Given the description of an element on the screen output the (x, y) to click on. 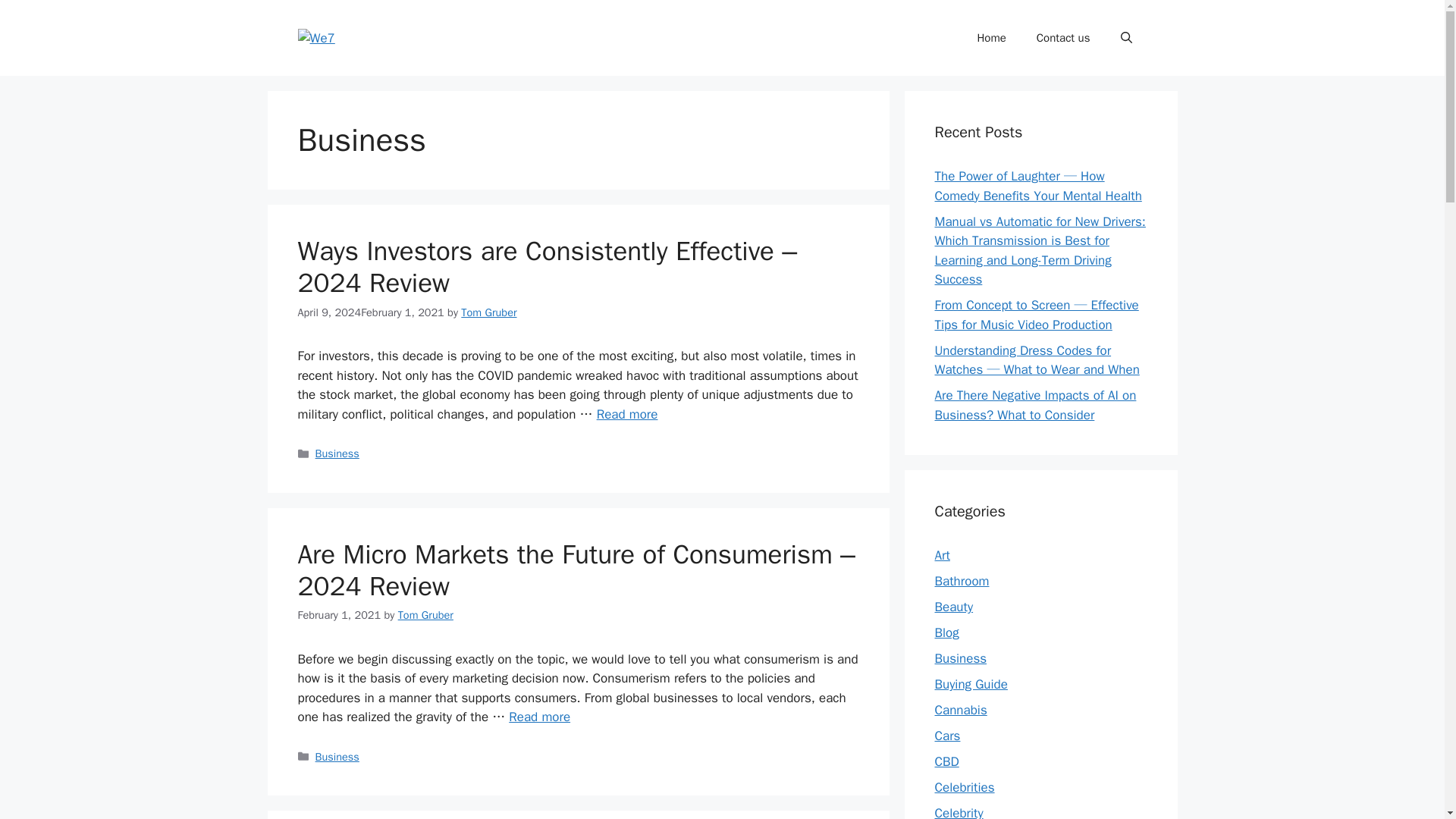
Read more (627, 414)
Home (990, 37)
View all posts by Tom Gruber (424, 614)
Business (337, 453)
Business (337, 756)
Tom Gruber (488, 312)
View all posts by Tom Gruber (488, 312)
Read more (539, 716)
Contact us (1063, 37)
Tom Gruber (424, 614)
